Given the description of an element on the screen output the (x, y) to click on. 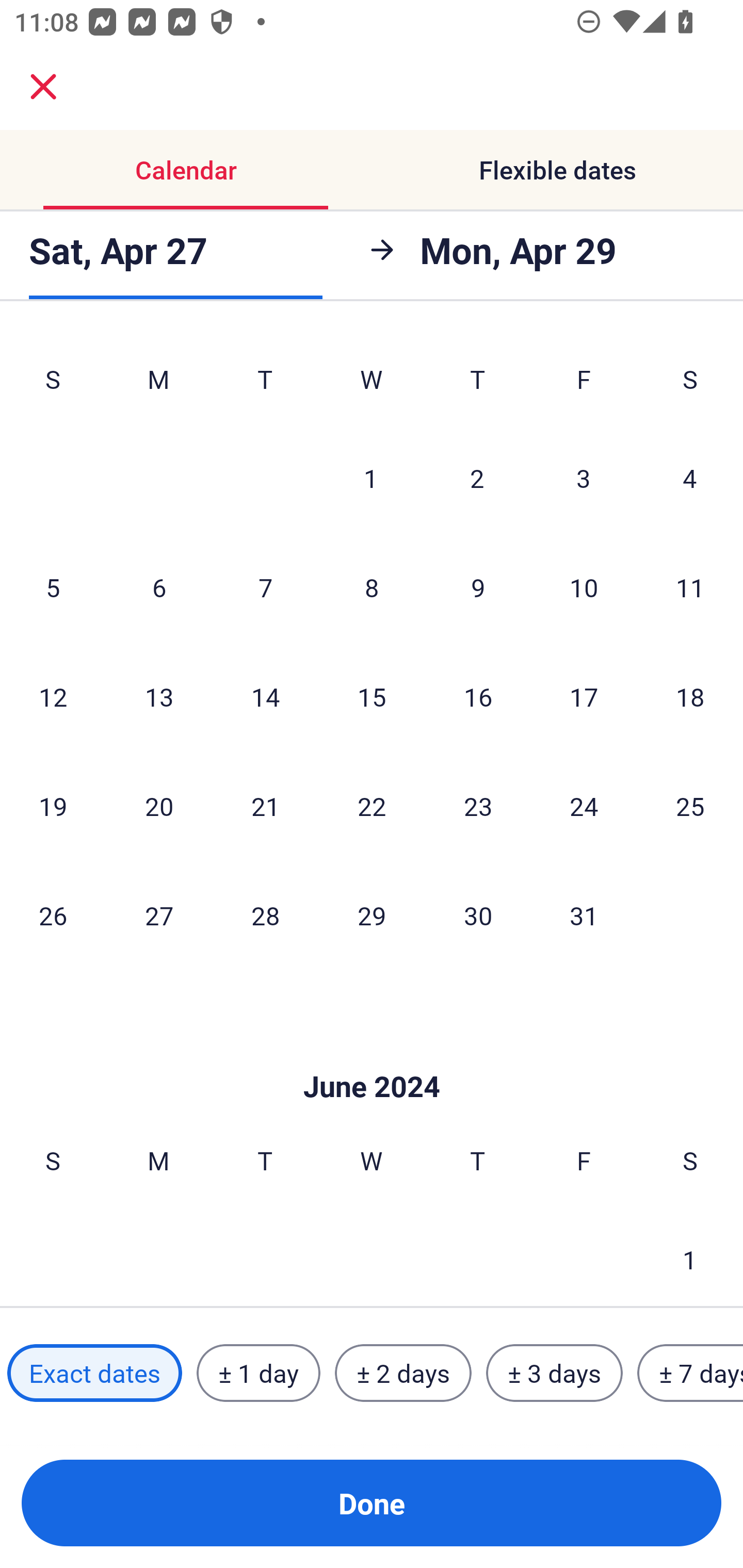
close. (43, 86)
Flexible dates (557, 170)
1 Wednesday, May 1, 2024 (371, 476)
2 Thursday, May 2, 2024 (477, 476)
3 Friday, May 3, 2024 (583, 476)
4 Saturday, May 4, 2024 (689, 476)
5 Sunday, May 5, 2024 (53, 586)
6 Monday, May 6, 2024 (159, 586)
7 Tuesday, May 7, 2024 (265, 586)
8 Wednesday, May 8, 2024 (371, 586)
9 Thursday, May 9, 2024 (477, 586)
10 Friday, May 10, 2024 (584, 586)
11 Saturday, May 11, 2024 (690, 586)
12 Sunday, May 12, 2024 (53, 696)
13 Monday, May 13, 2024 (159, 696)
14 Tuesday, May 14, 2024 (265, 696)
15 Wednesday, May 15, 2024 (371, 696)
16 Thursday, May 16, 2024 (477, 696)
17 Friday, May 17, 2024 (584, 696)
18 Saturday, May 18, 2024 (690, 696)
19 Sunday, May 19, 2024 (53, 805)
20 Monday, May 20, 2024 (159, 805)
21 Tuesday, May 21, 2024 (265, 805)
22 Wednesday, May 22, 2024 (371, 805)
23 Thursday, May 23, 2024 (477, 805)
24 Friday, May 24, 2024 (584, 805)
25 Saturday, May 25, 2024 (690, 805)
26 Sunday, May 26, 2024 (53, 914)
27 Monday, May 27, 2024 (159, 914)
28 Tuesday, May 28, 2024 (265, 914)
29 Wednesday, May 29, 2024 (371, 914)
30 Thursday, May 30, 2024 (477, 914)
31 Friday, May 31, 2024 (584, 914)
Skip to Done (371, 1055)
1 Saturday, June 1, 2024 (689, 1255)
Exact dates (94, 1372)
± 1 day (258, 1372)
± 2 days (403, 1372)
± 3 days (553, 1372)
± 7 days (690, 1372)
Done (371, 1502)
